Given the description of an element on the screen output the (x, y) to click on. 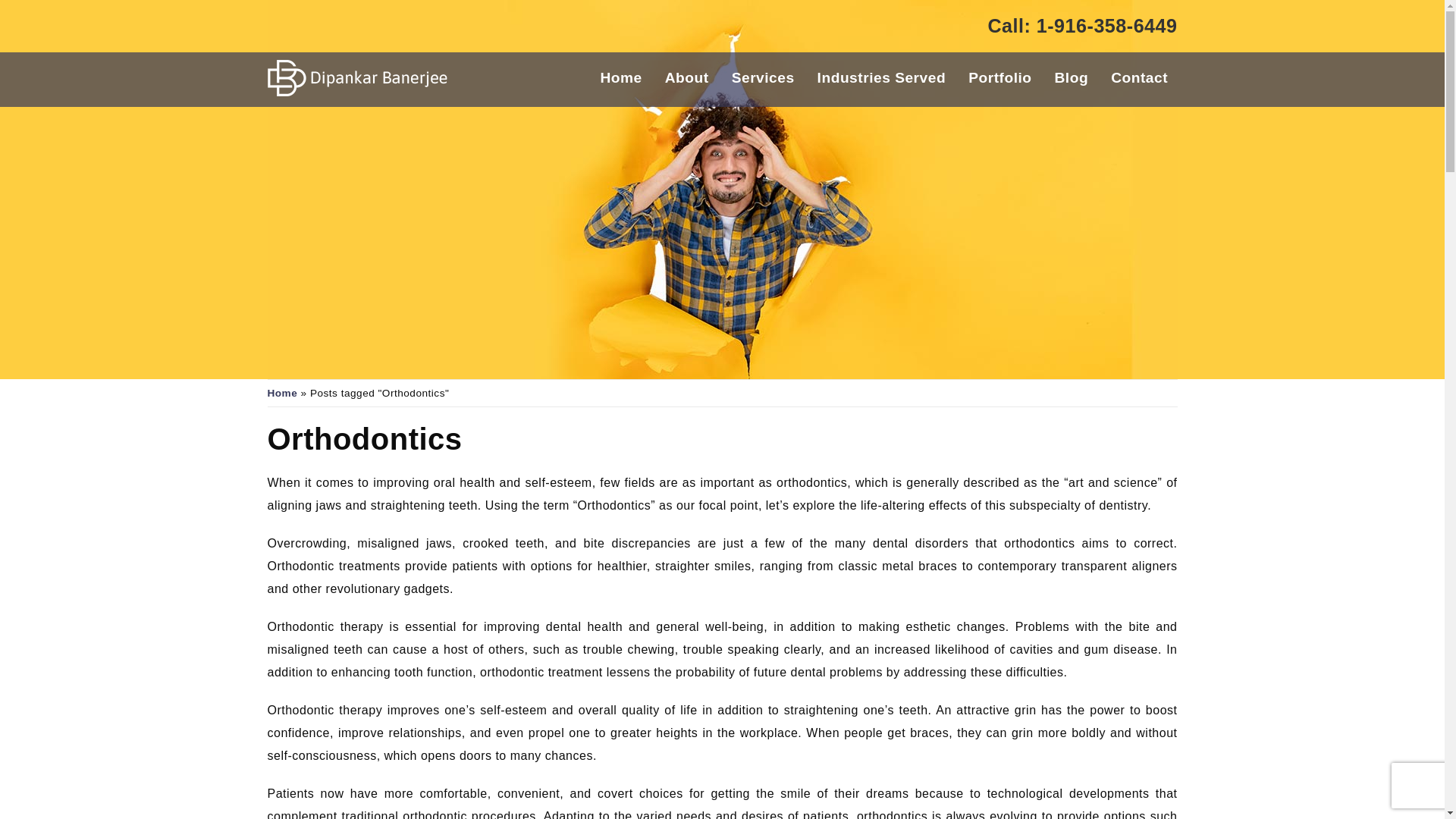
Portfolio (999, 77)
Home (281, 392)
Home (620, 77)
1-916-358-6449 (1106, 25)
Industries Served (881, 77)
About (687, 77)
Blog (1071, 77)
Contact (1138, 77)
Services (762, 77)
